Given the description of an element on the screen output the (x, y) to click on. 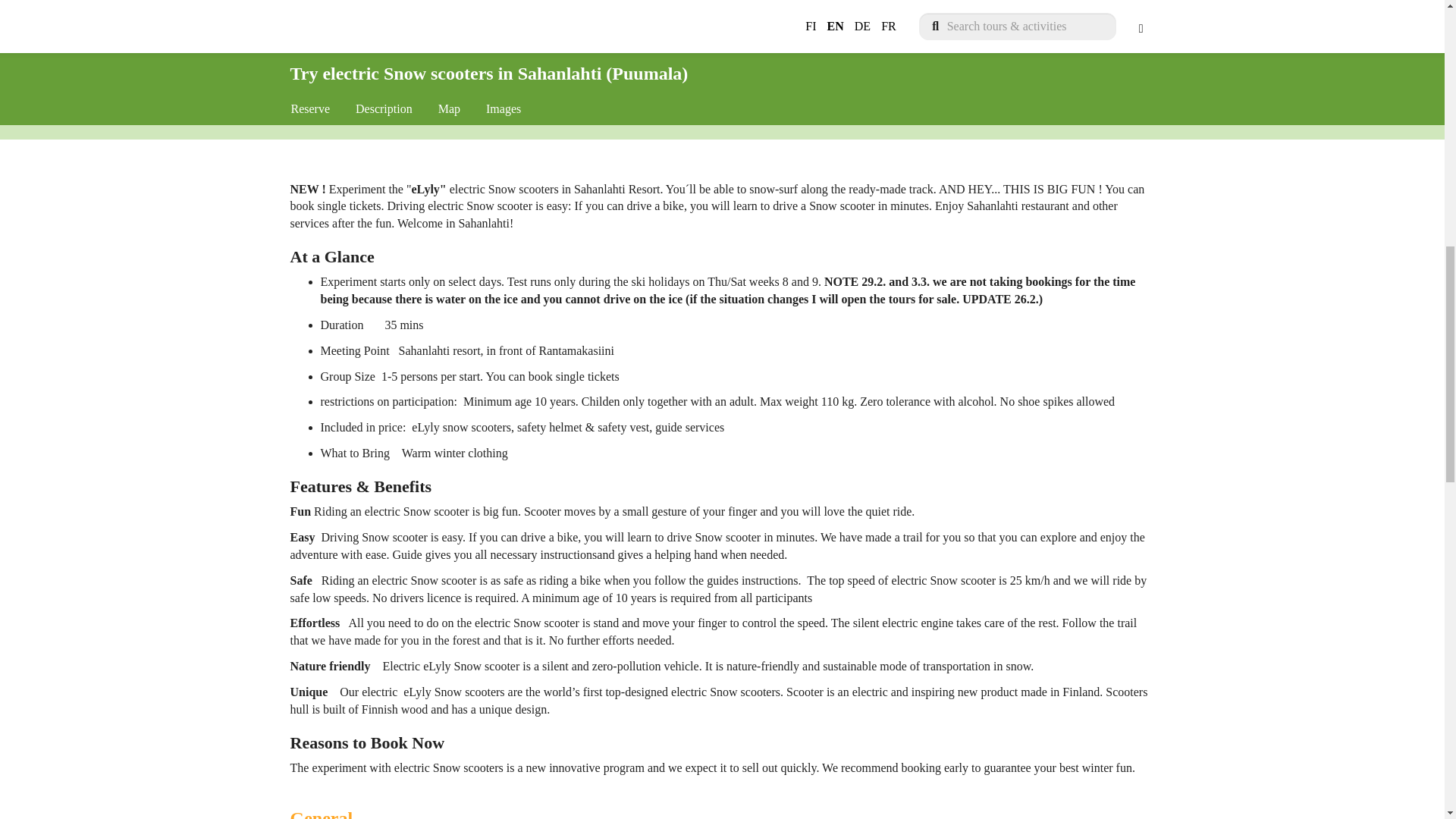
29.2.2024 (591, 36)
22.2.2024 (419, 36)
24.2.2024 (505, 36)
Merchant terms (996, 108)
2.3.2024 (675, 36)
